Given the description of an element on the screen output the (x, y) to click on. 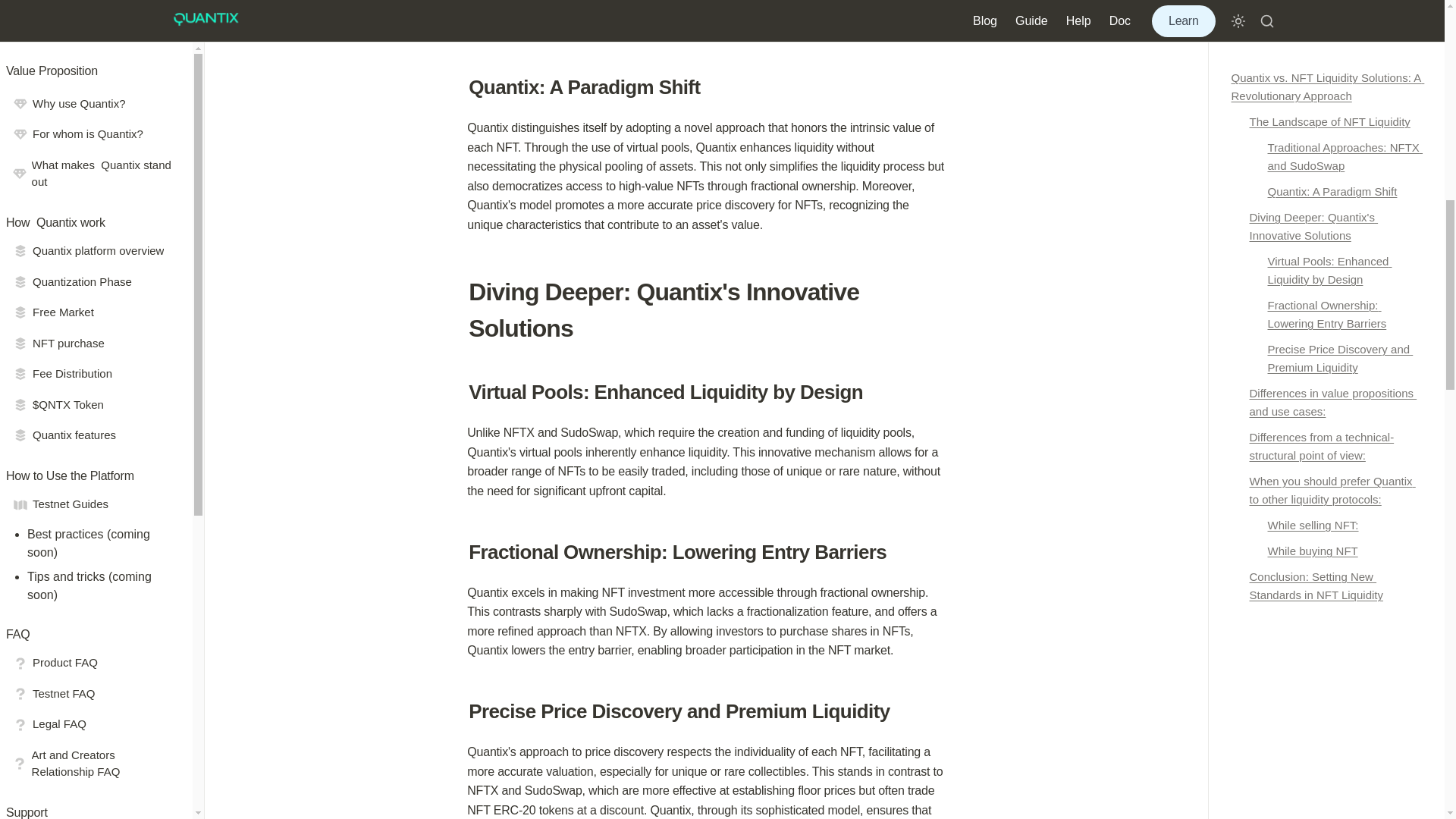
Testnet Guides (92, 398)
Quantix Blog (92, 475)
Art and Creators Relationship FAQ (92, 13)
Learn Web3 (92, 322)
Help Center (92, 80)
Help Center (92, 245)
Learn Quantix (92, 169)
